Given the description of an element on the screen output the (x, y) to click on. 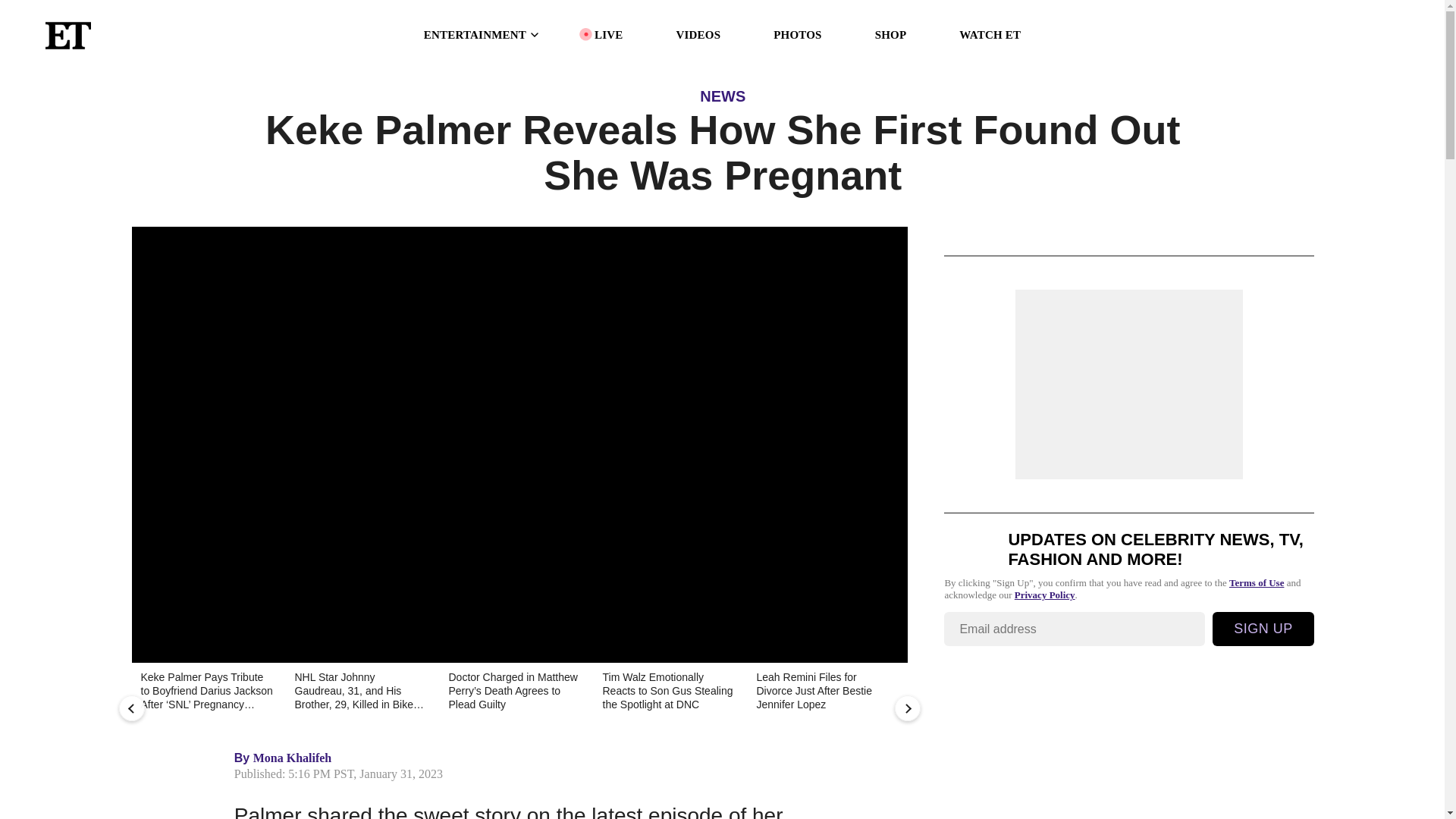
PHOTOS (797, 34)
VIDEOS (697, 34)
SHOP (891, 34)
LIVE (608, 34)
WATCH ET (989, 34)
NEWS (722, 95)
ENTERTAINMENT (482, 34)
